Given the description of an element on the screen output the (x, y) to click on. 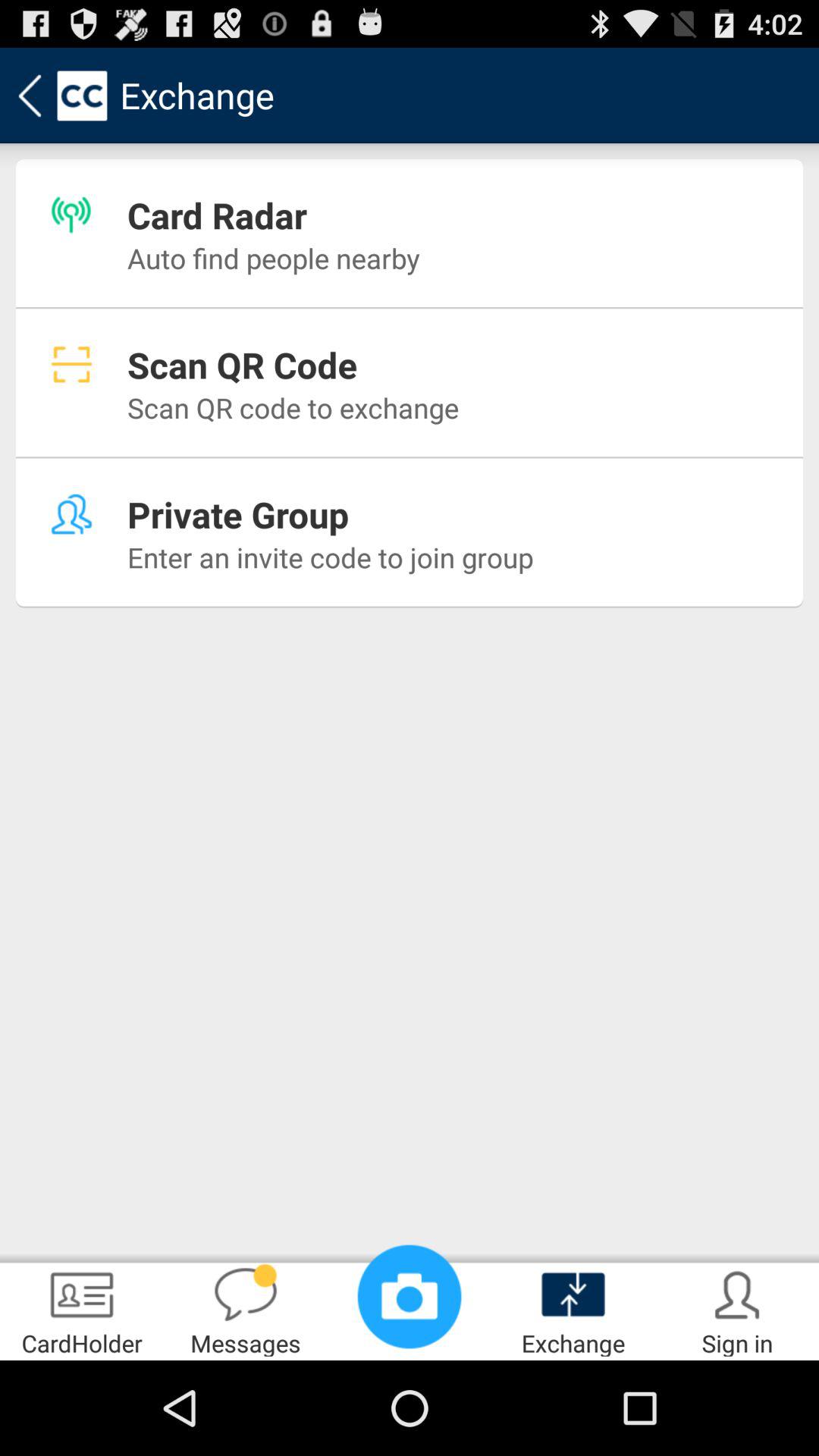
swipe to the sign in icon (737, 1309)
